Given the description of an element on the screen output the (x, y) to click on. 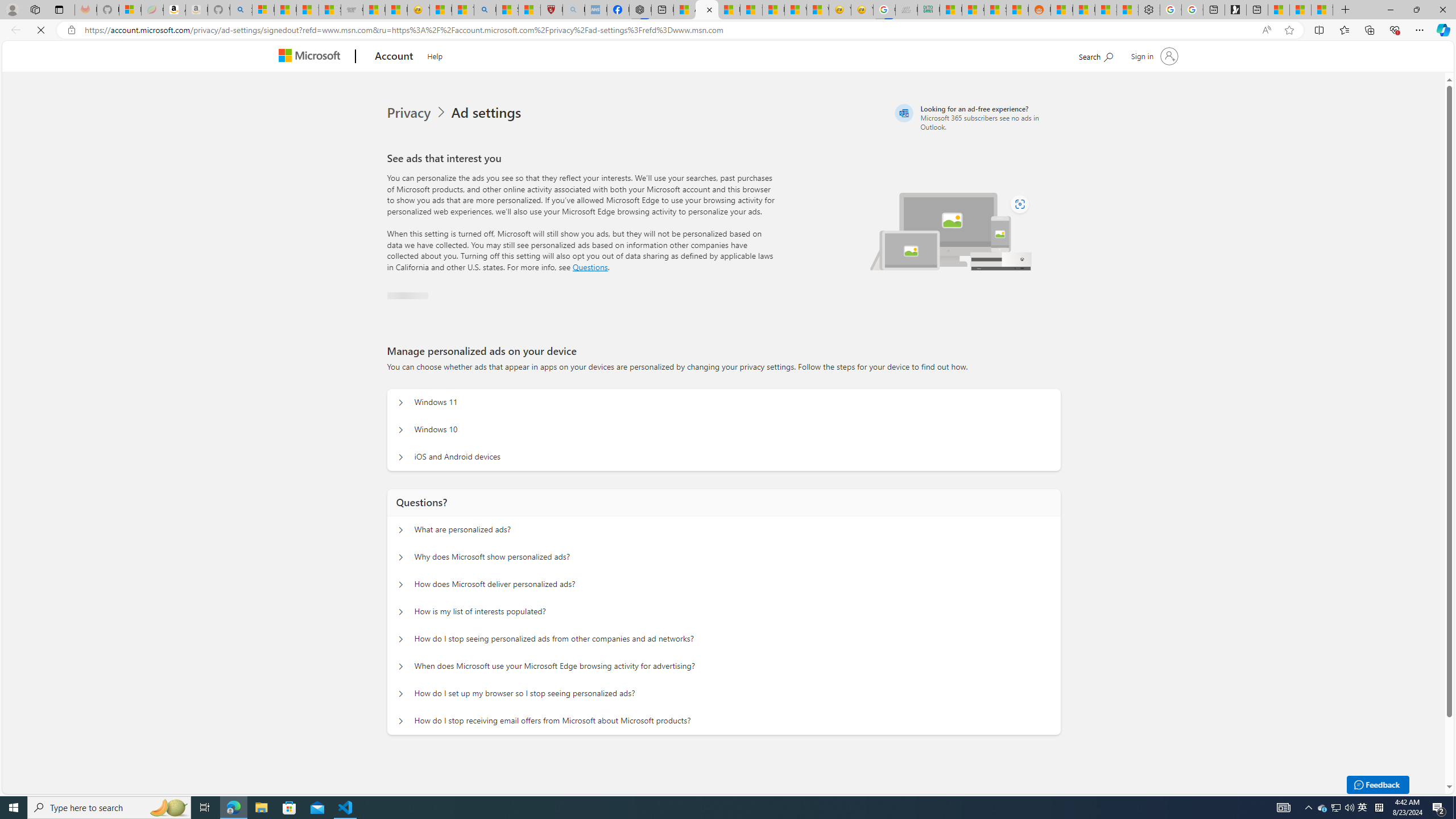
Questions? What are personalized ads? (401, 530)
Account (394, 56)
Search Microsoft.com (1117, 54)
Illustration of multiple devices (951, 231)
